Given the description of an element on the screen output the (x, y) to click on. 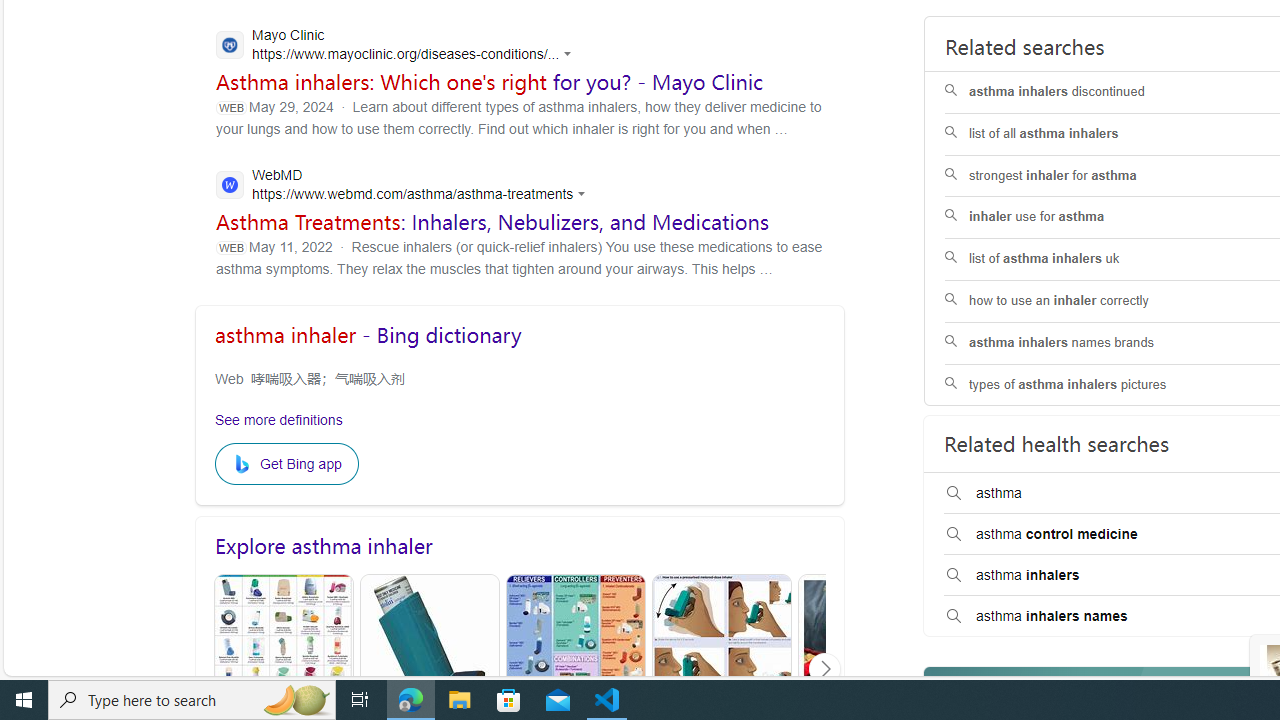
asthma inhaler - Bing dictionary (368, 334)
